Given the description of an element on the screen output the (x, y) to click on. 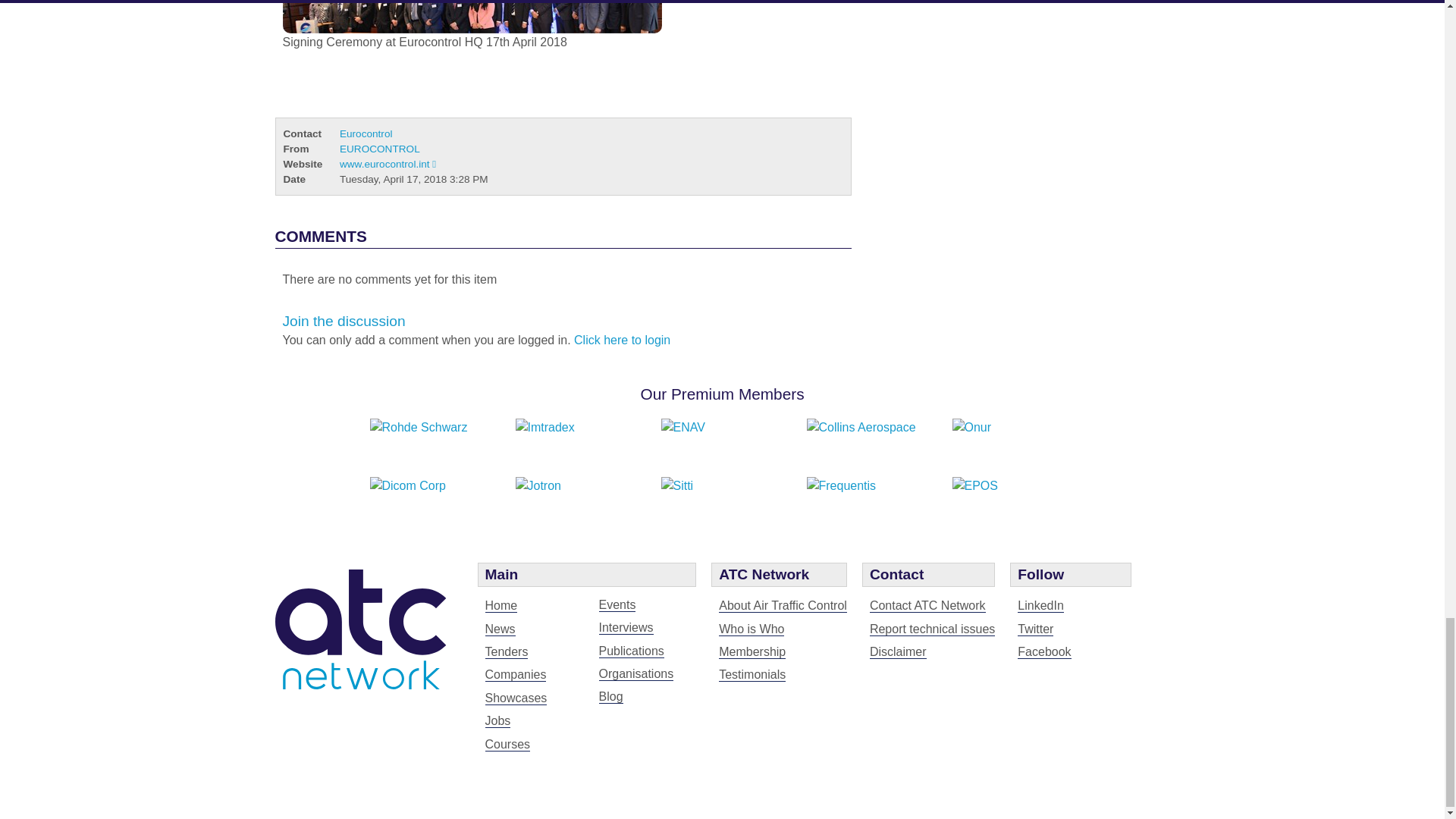
Companies (515, 674)
Home (501, 605)
Tenders (506, 652)
Signing Ceremony at Eurocontrol HQ 17th April 2018 (471, 16)
View profile of EUROCONTROL (379, 148)
News (499, 629)
Click here to login (621, 339)
www.eurocontrol.int (387, 163)
Click here to login (621, 339)
Showcases (515, 698)
Eurocontrol (366, 133)
View website of EUROCONTROL (387, 163)
EUROCONTROL (379, 148)
